Given the description of an element on the screen output the (x, y) to click on. 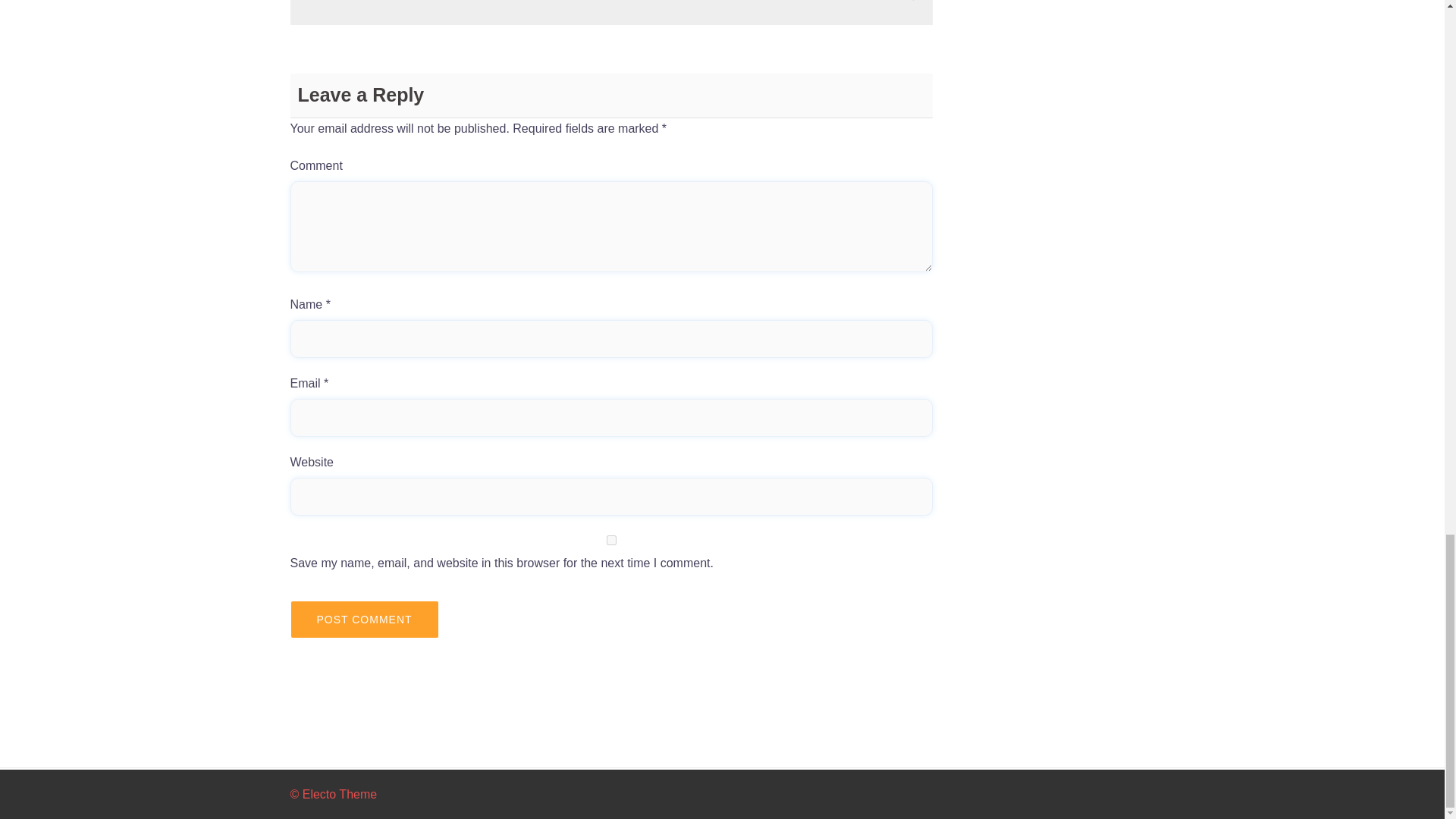
Post Comment (363, 619)
Post Comment (363, 619)
yes (611, 540)
